Given the description of an element on the screen output the (x, y) to click on. 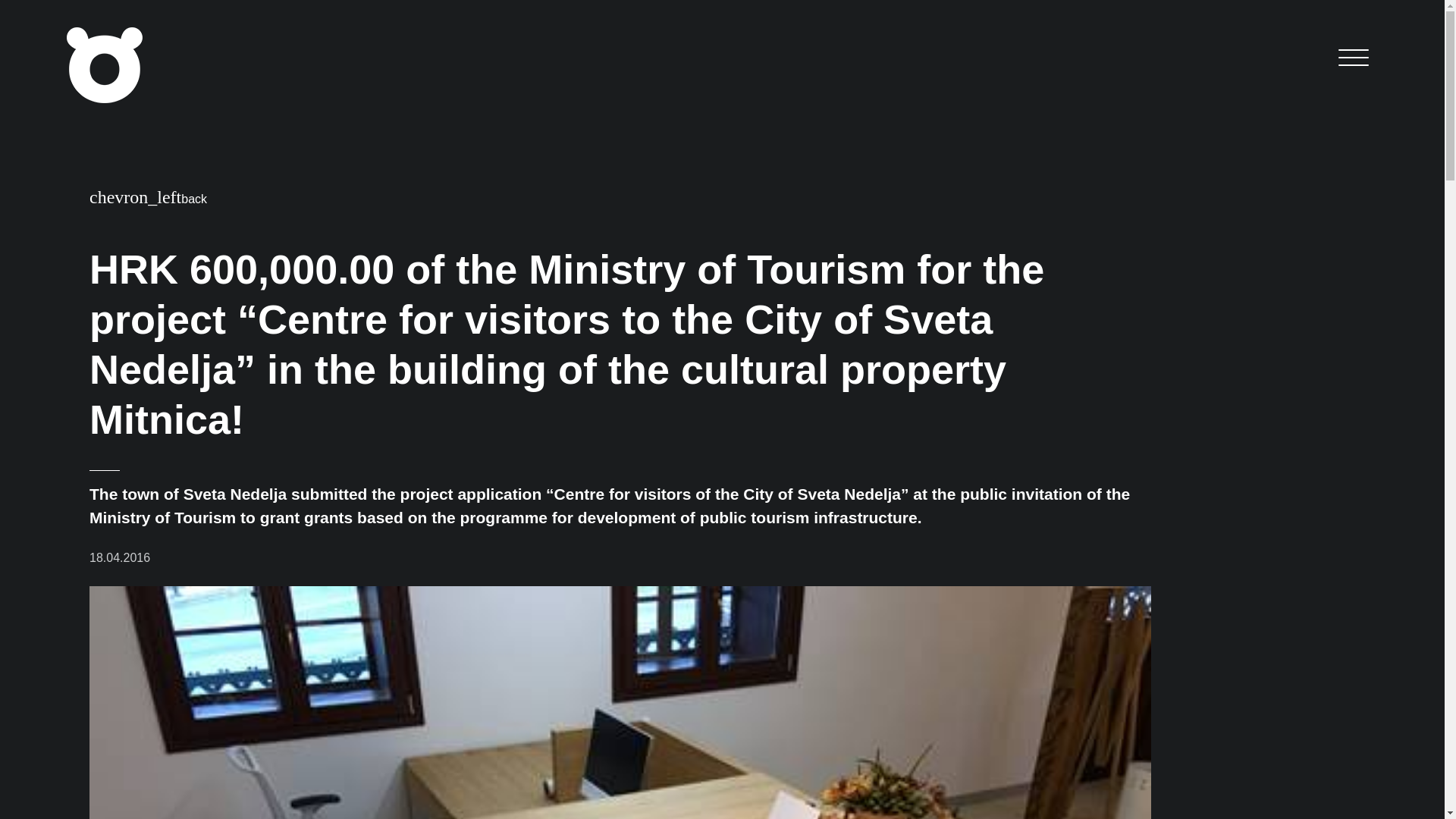
Pandopad (104, 65)
